Given the description of an element on the screen output the (x, y) to click on. 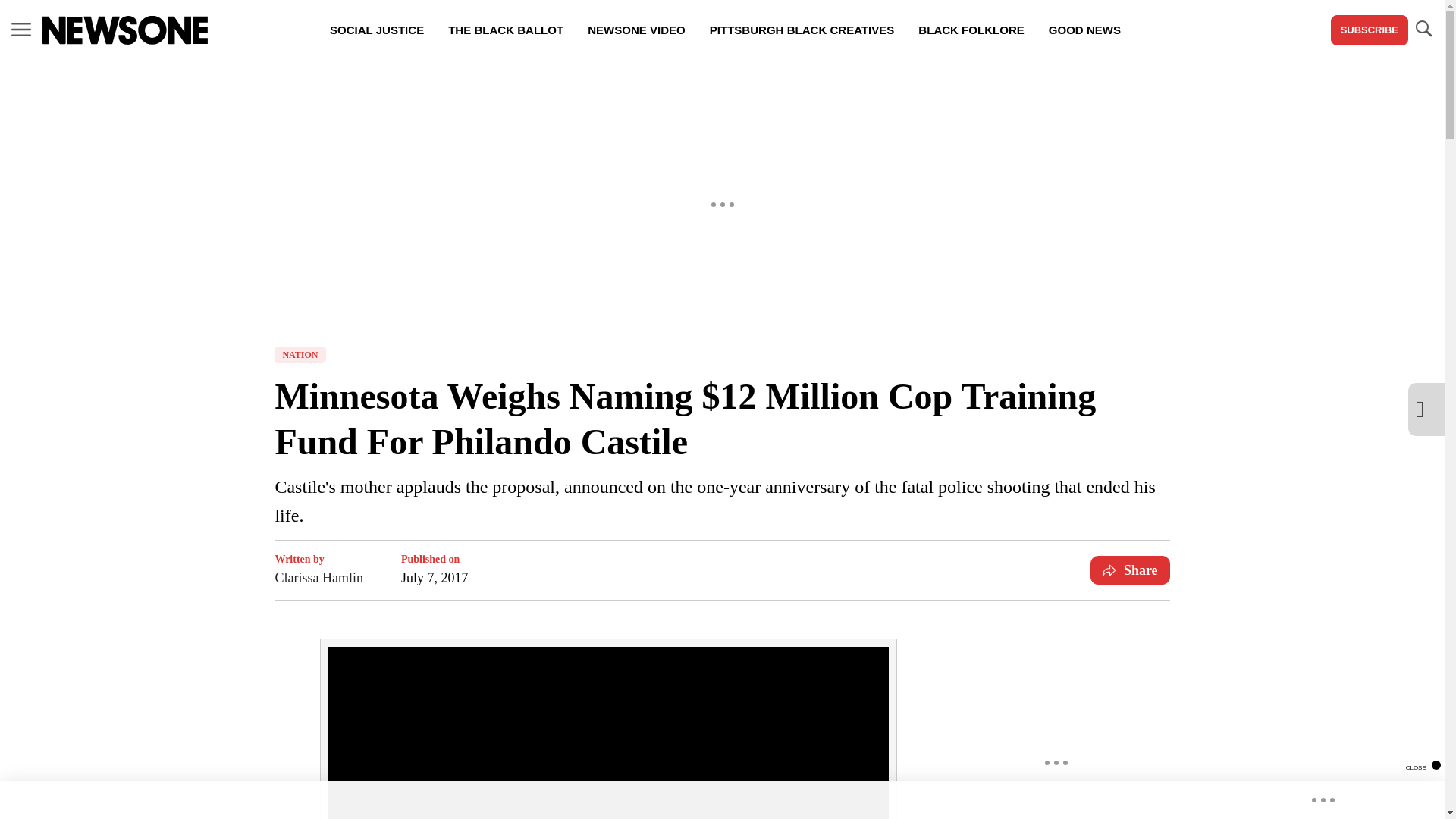
MENU (20, 29)
NEWSONE VIDEO (636, 30)
PITTSBURGH BLACK CREATIVES (802, 30)
Share (1130, 570)
THE BLACK BALLOT (505, 30)
BLACK FOLKLORE (970, 30)
GOOD NEWS (1084, 30)
SUBSCRIBE (1368, 30)
Clarissa Hamlin (318, 577)
MENU (20, 30)
